Given the description of an element on the screen output the (x, y) to click on. 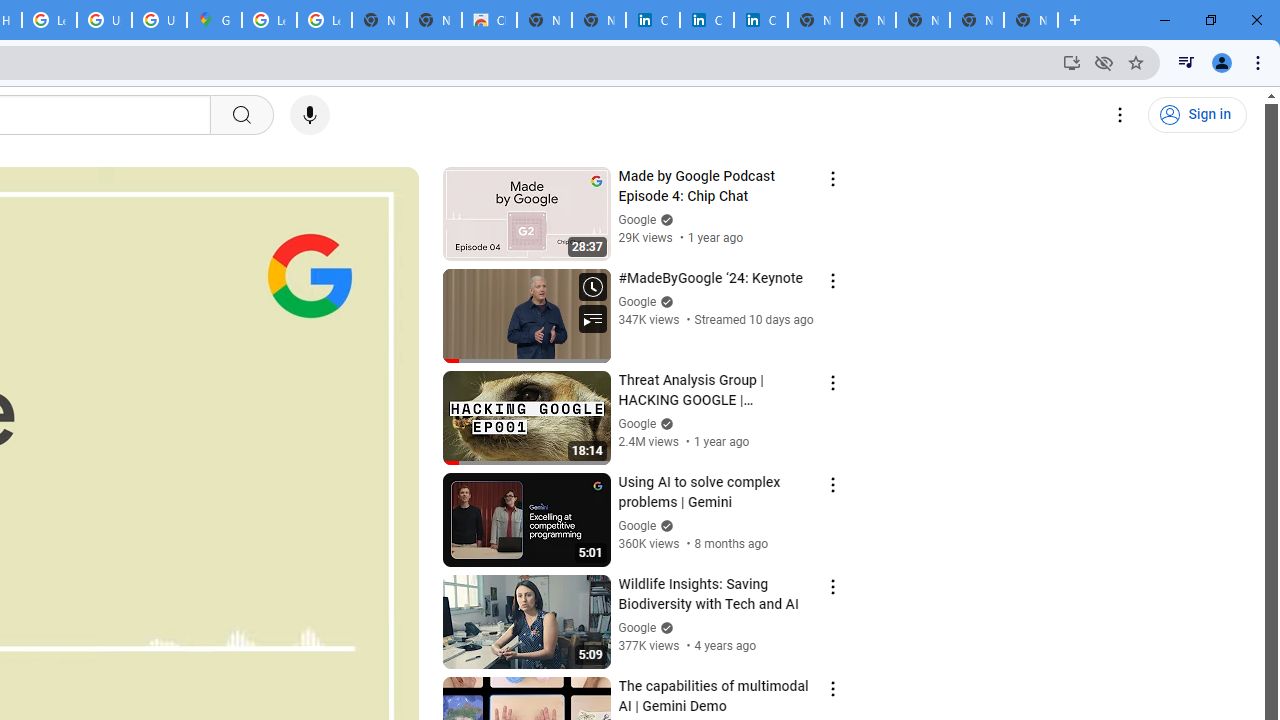
Google Maps (213, 20)
Install YouTube (1071, 62)
Action menu (832, 688)
